Given the description of an element on the screen output the (x, y) to click on. 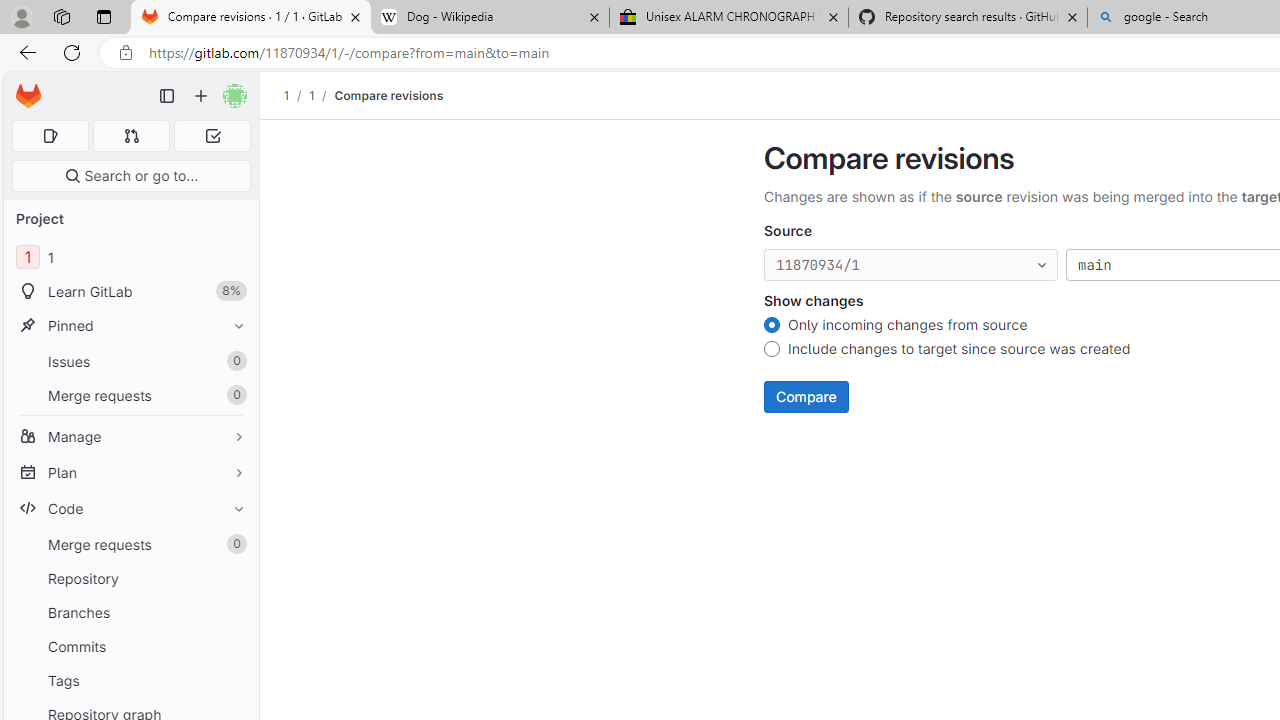
Commits (130, 646)
Dog - Wikipedia (490, 17)
Create new... (201, 96)
Commits (130, 646)
Include changes to target since source was created (771, 351)
Assigned issues 0 (50, 136)
Repository (130, 578)
Tags (130, 679)
Issues 0 (130, 361)
Pin Branches (234, 611)
